Given the description of an element on the screen output the (x, y) to click on. 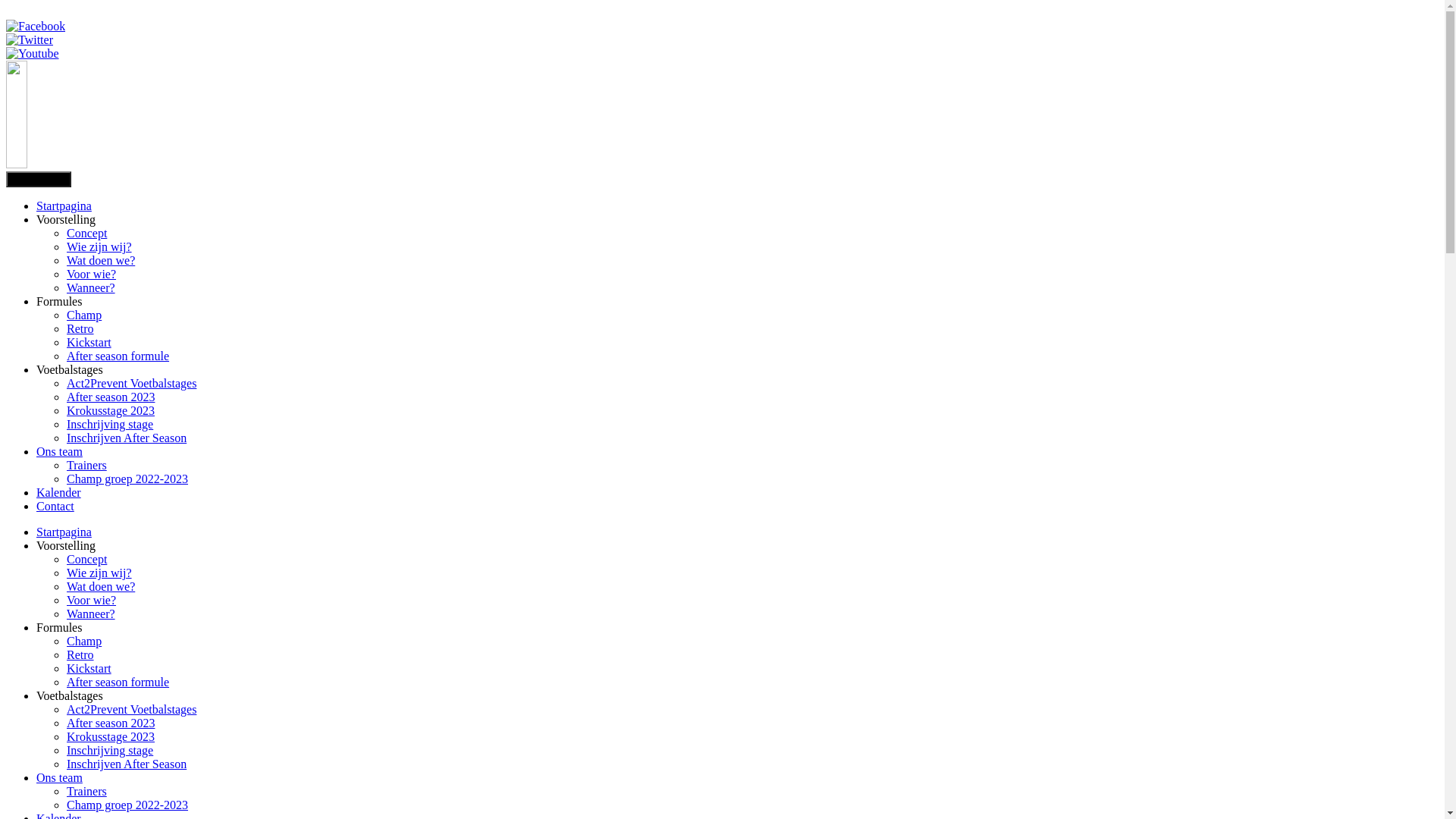
Kickstart Element type: text (88, 341)
Formules Element type: text (58, 300)
After season formule Element type: text (117, 681)
Champ Element type: text (83, 640)
Ons team Element type: text (59, 451)
Concept Element type: text (86, 232)
Formules Element type: text (58, 627)
Voetbalstages Element type: text (69, 369)
Voorstelling Element type: text (65, 219)
Contact Element type: text (55, 505)
Inschrijving stage Element type: text (109, 749)
Wie zijn wij? Element type: text (98, 572)
Concept Element type: text (86, 558)
Voor wie? Element type: text (91, 599)
Champ Element type: text (83, 314)
Act2Prevent Voetbalstages Element type: text (131, 382)
After season formule Element type: text (117, 355)
Krokusstage 2023 Element type: text (110, 736)
Trainers Element type: text (86, 790)
Ons team Element type: text (59, 777)
Wanneer? Element type: text (90, 287)
Act2Prevent Voetbalstages Element type: text (131, 708)
Open Menu Element type: text (38, 179)
Startpagina Element type: text (63, 531)
Wie zijn wij? Element type: text (98, 246)
Kalender Element type: text (58, 492)
Krokusstage 2023 Element type: text (110, 410)
Voorstelling Element type: text (65, 545)
Inschrijving stage Element type: text (109, 423)
Trainers Element type: text (86, 464)
Kickstart Element type: text (88, 668)
Voor wie? Element type: text (91, 273)
Inschrijven After Season Element type: text (126, 763)
Wat doen we? Element type: text (100, 260)
Retro Element type: text (80, 654)
Wanneer? Element type: text (90, 613)
Wat doen we? Element type: text (100, 586)
Voetbalstages Element type: text (69, 695)
Champ groep 2022-2023 Element type: text (127, 804)
Champ groep 2022-2023 Element type: text (127, 478)
Inschrijven After Season Element type: text (126, 437)
After season 2023 Element type: text (110, 396)
Retro Element type: text (80, 328)
Startpagina Element type: text (63, 205)
After season 2023 Element type: text (110, 722)
